Given the description of an element on the screen output the (x, y) to click on. 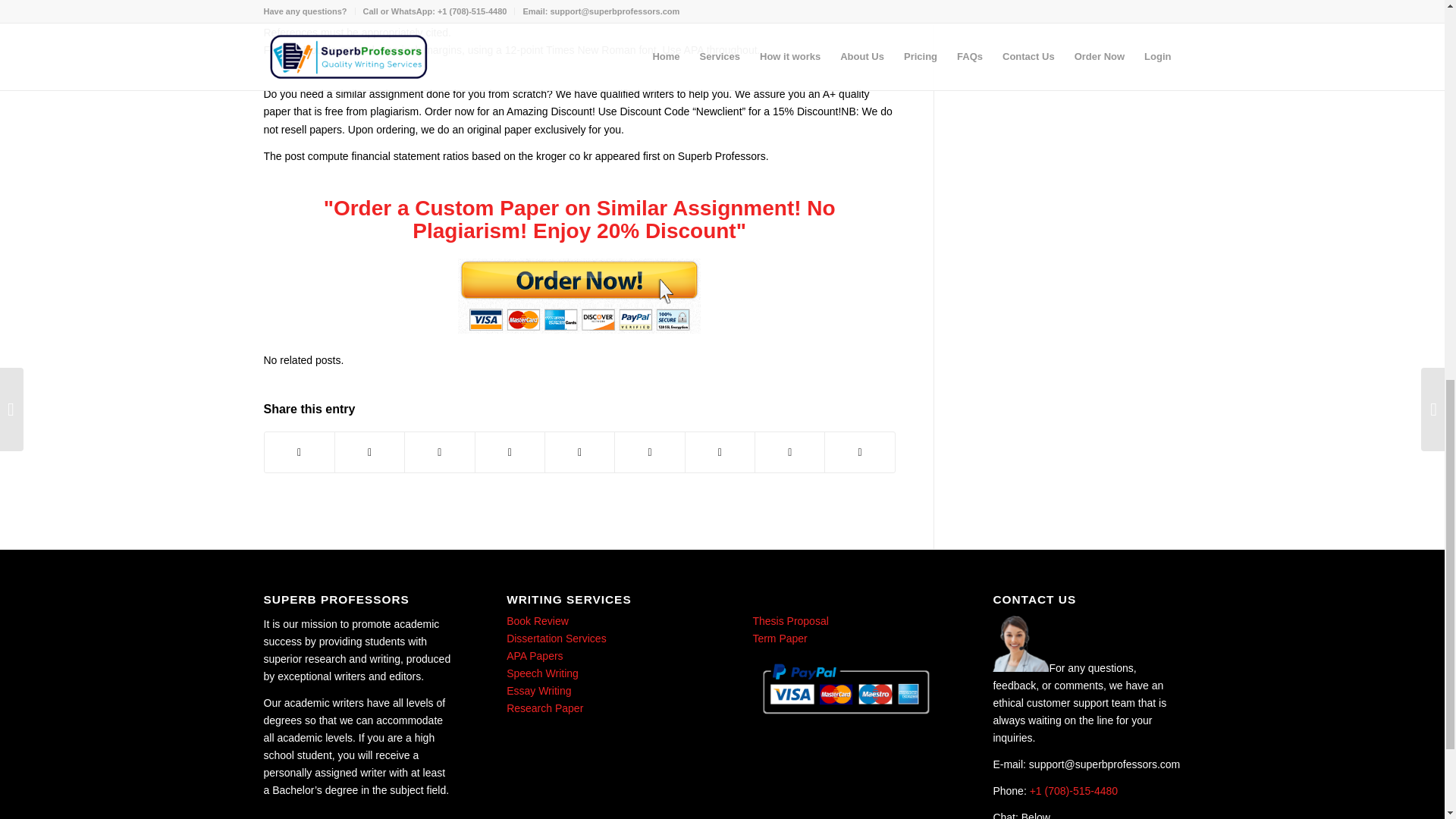
Dissertation Services (556, 638)
Speech Writing (542, 673)
 Thesis Proposal (788, 621)
Research Paper (544, 707)
Essay Writing (538, 690)
 Term Paper (778, 638)
Book Review (537, 621)
APA Papers (534, 655)
